Given the description of an element on the screen output the (x, y) to click on. 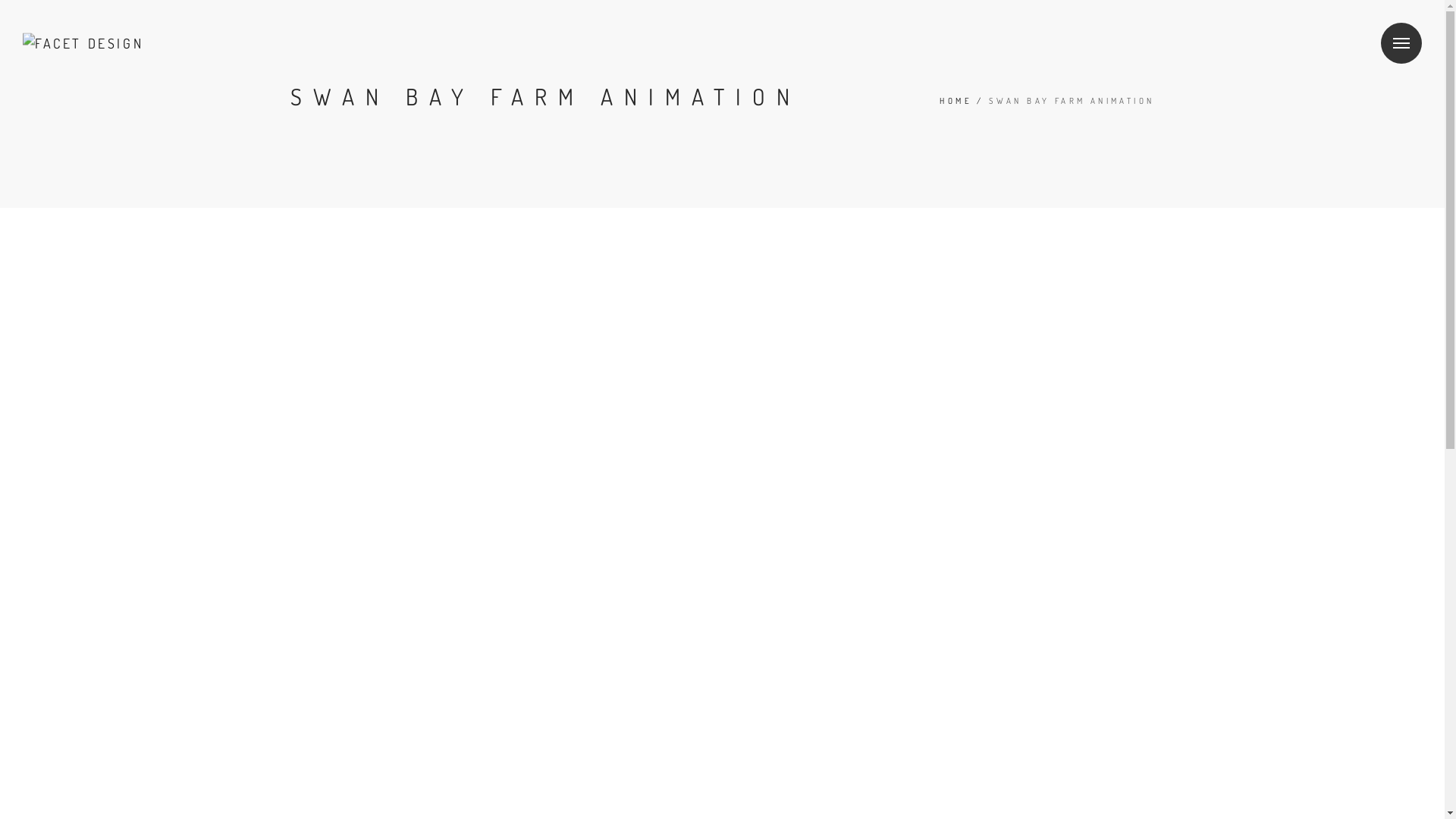
HOME Element type: text (955, 100)
Menu Element type: text (1400, 42)
Facet Design Element type: hover (82, 42)
